Given the description of an element on the screen output the (x, y) to click on. 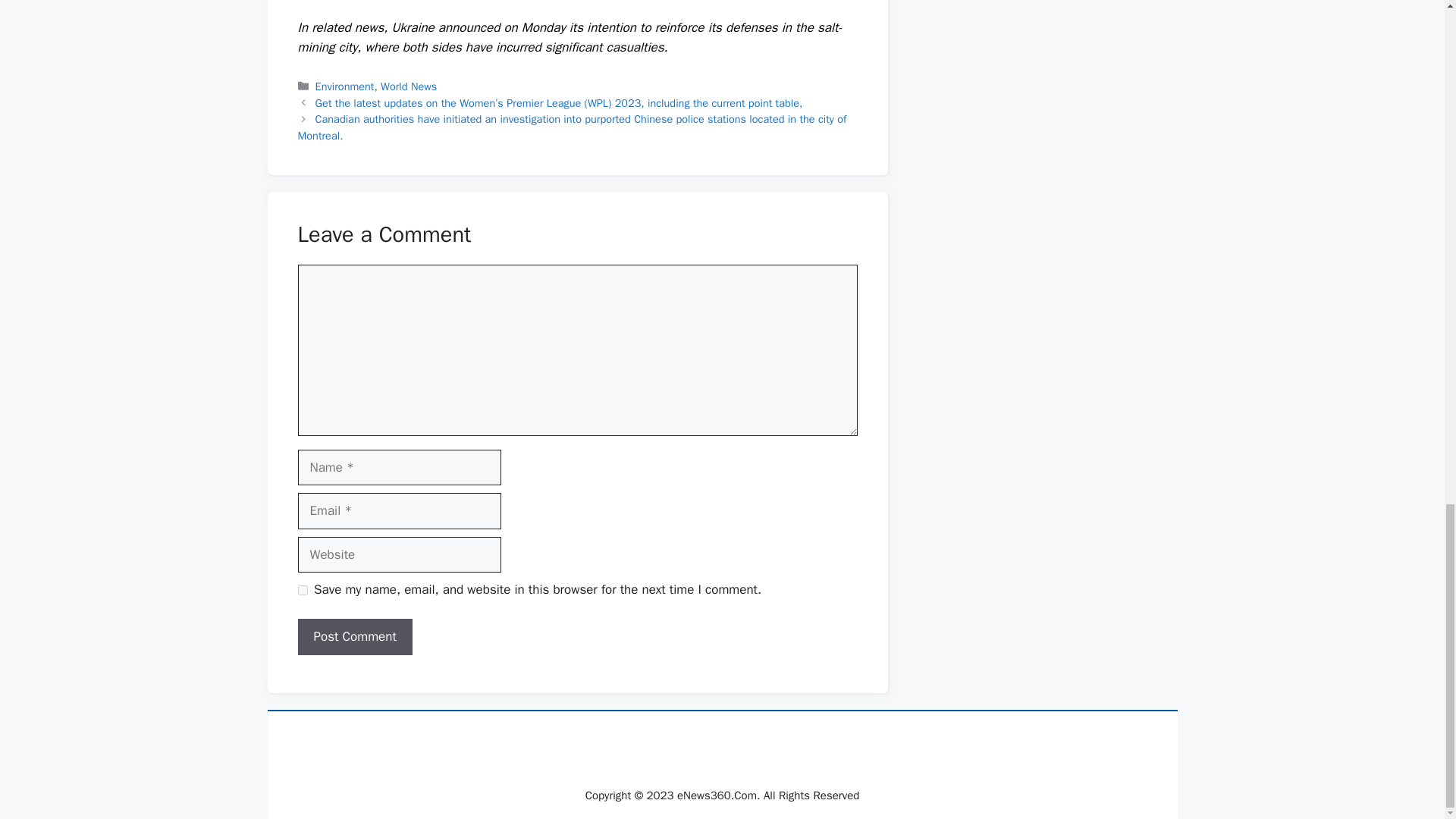
Environment (344, 86)
yes (302, 590)
Post Comment (354, 637)
Post Comment (354, 637)
World News (408, 86)
